Given the description of an element on the screen output the (x, y) to click on. 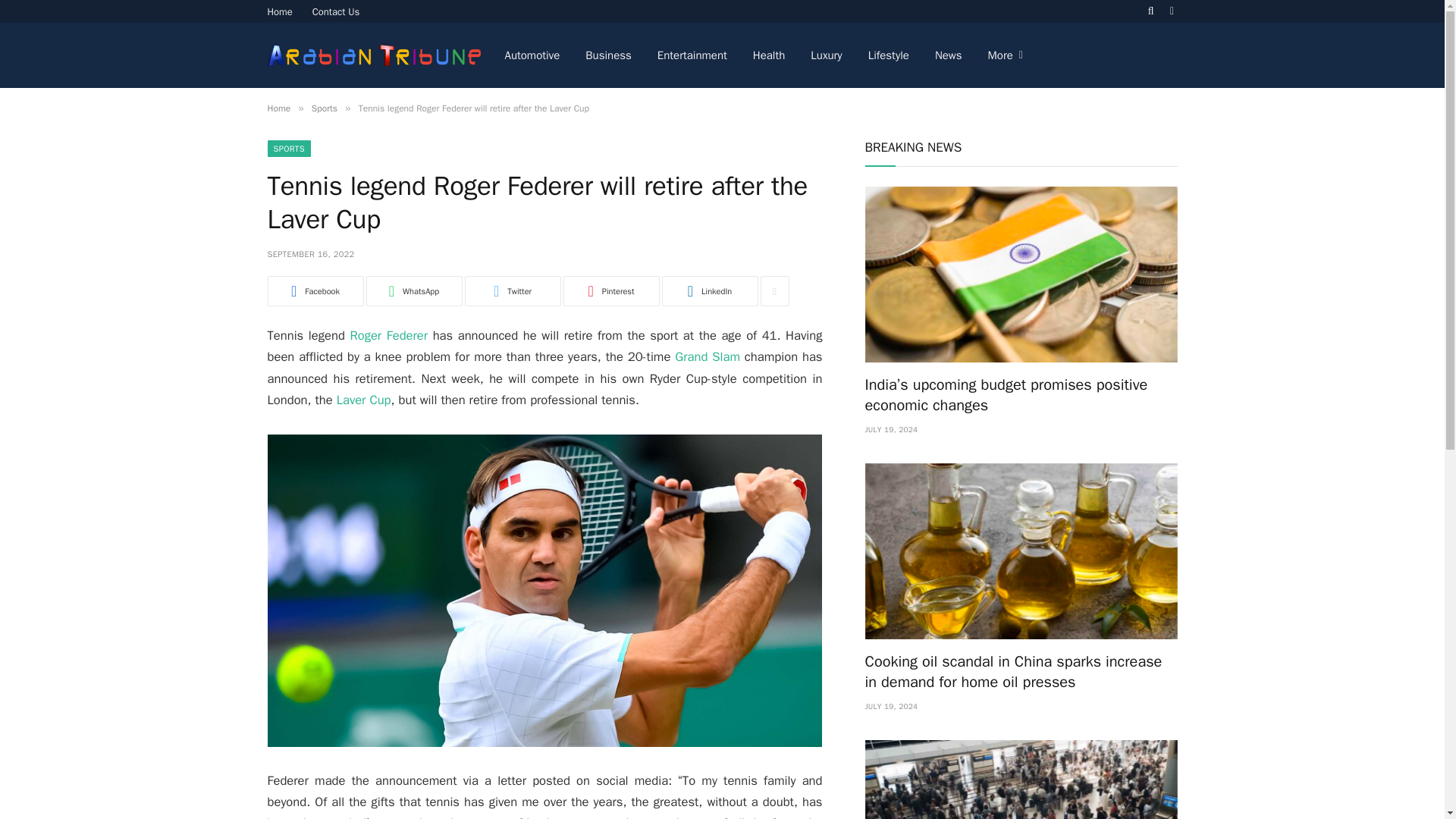
Lifestyle (888, 54)
More (1005, 54)
WhatsApp (413, 291)
Facebook (314, 291)
Business (608, 54)
Share on Facebook (314, 291)
Share on LinkedIn (709, 291)
News (948, 54)
Arabian Tribune (373, 55)
LinkedIn (709, 291)
Share on Pinterest (610, 291)
Switch to Dark Design - easier on eyes. (1170, 10)
Share on WhatsApp (413, 291)
Twitter (512, 291)
Home (279, 11)
